Given the description of an element on the screen output the (x, y) to click on. 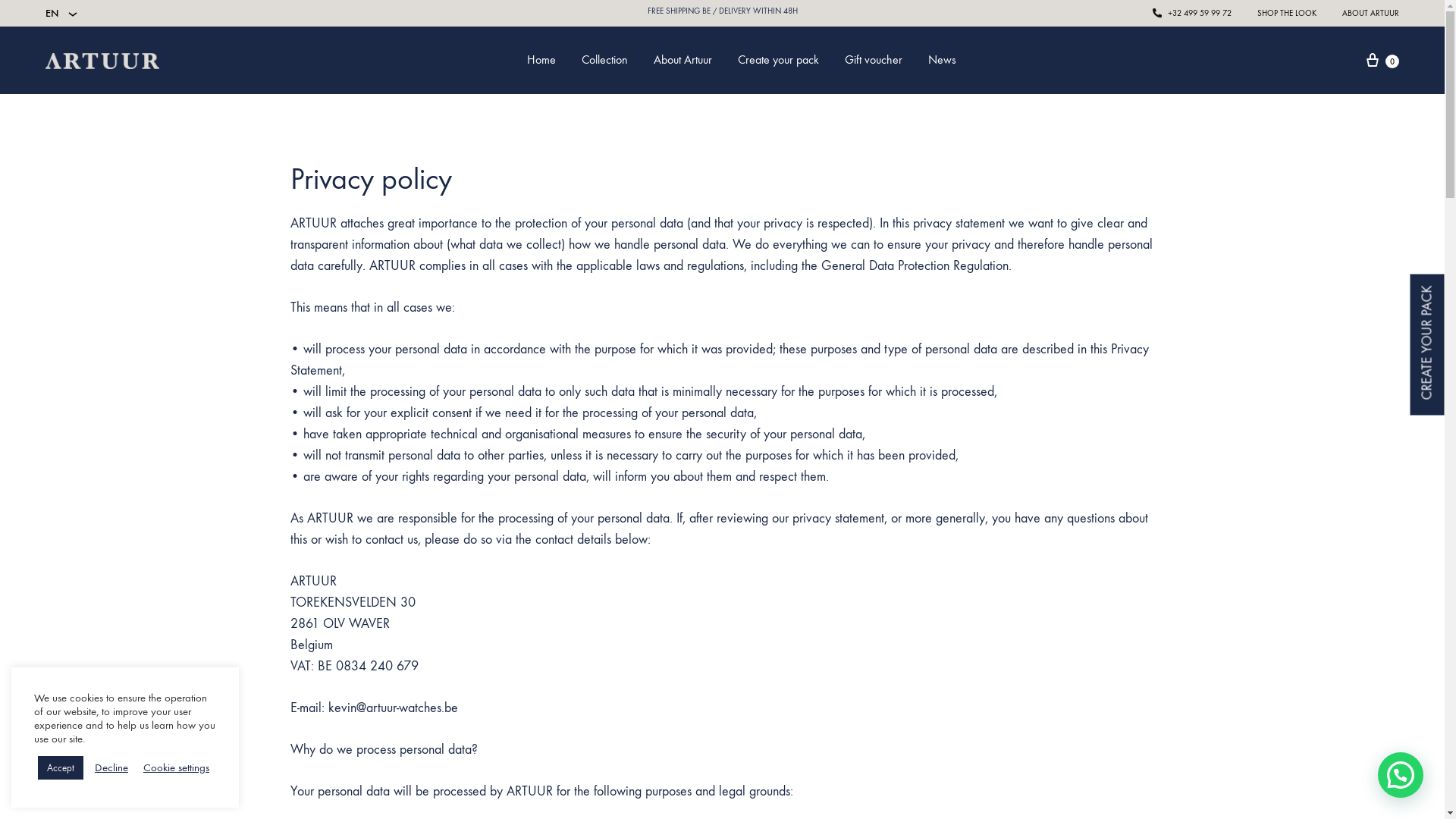
0 Element type: text (1381, 59)
Gift voucher Element type: text (873, 59)
Cookie settings Element type: text (176, 768)
Create your pack Element type: text (777, 59)
About Artuur Element type: text (682, 59)
News Element type: text (942, 59)
Decline Element type: text (111, 768)
Home Element type: text (540, 59)
Accept Element type: text (60, 767)
Collection Element type: text (603, 59)
